Given the description of an element on the screen output the (x, y) to click on. 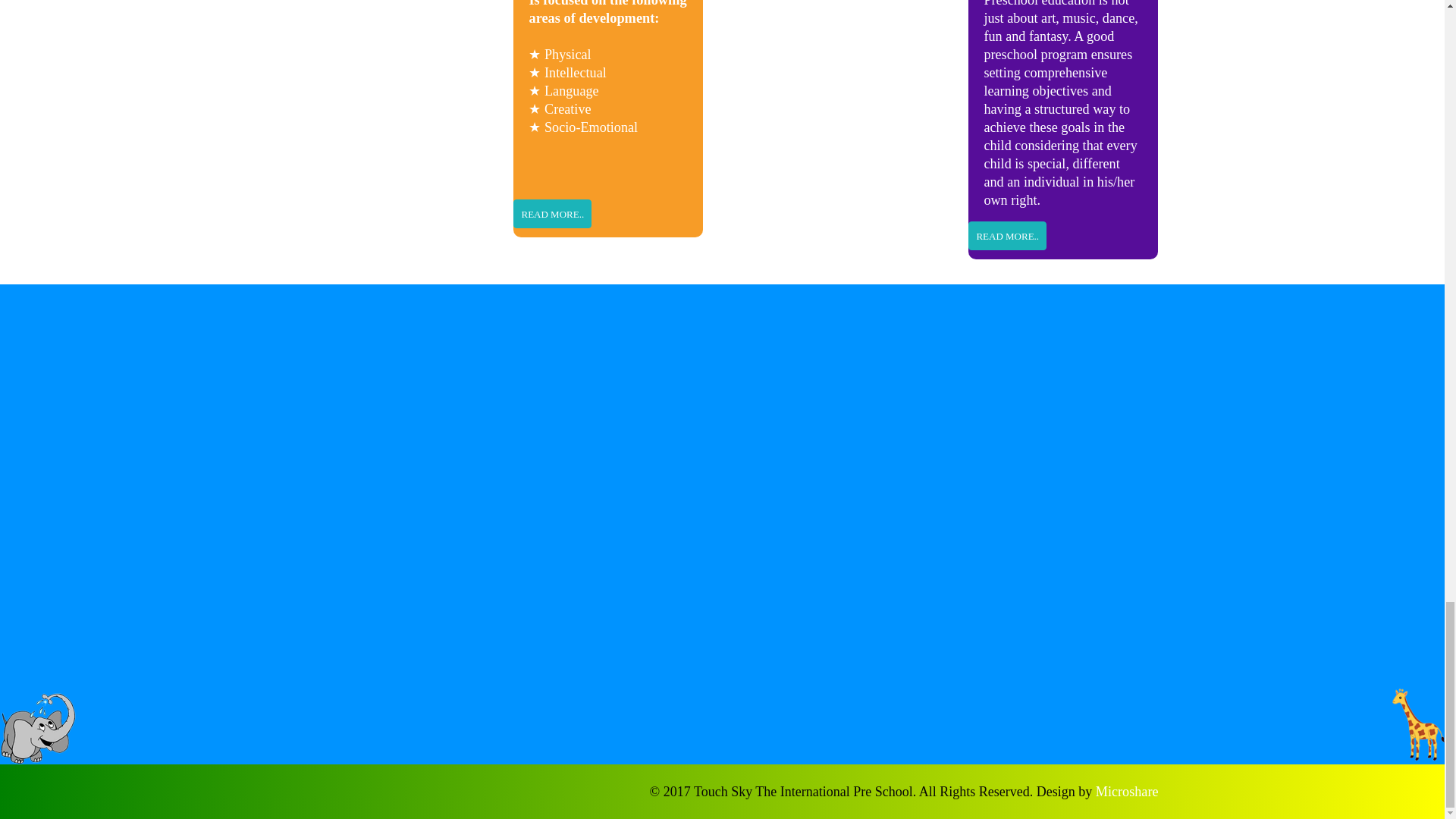
READ MORE.. (552, 213)
